Given the description of an element on the screen output the (x, y) to click on. 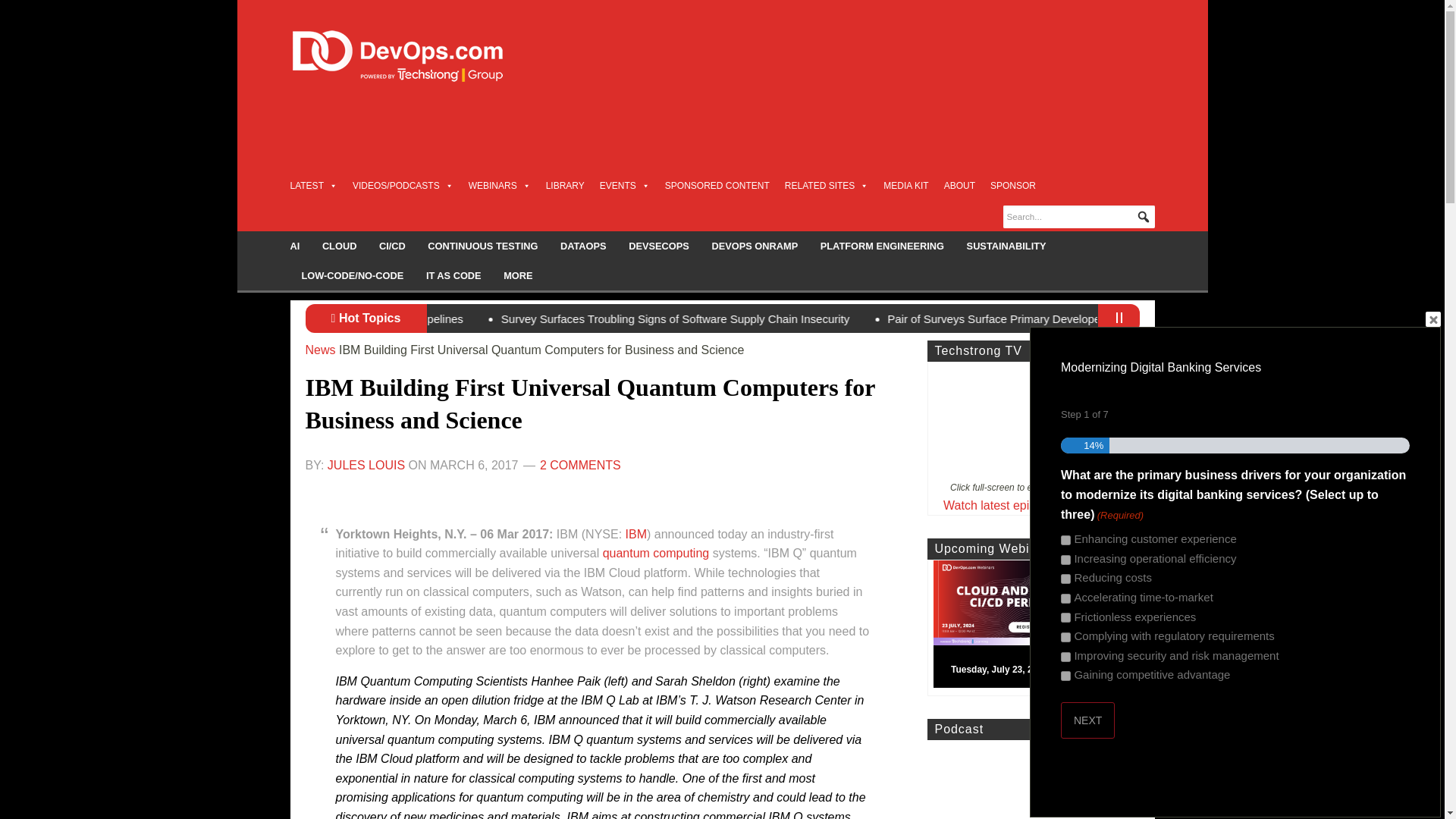
DEVOPS.COM (414, 56)
SPONSORED CONTENT (717, 185)
AI-Powered Solutions for Azure DevOps Pipelines (547, 318)
WEBINARS (499, 185)
Reducing costs (1065, 578)
Gaining competitive advantage (1065, 675)
Enhancing customer experience (1065, 540)
Tuesday, July 23, 2024 - 11:00 am EDT (1038, 627)
RELATED SITES (825, 185)
3rd party ad content (878, 136)
Next (1088, 719)
Frictionless experiences (1065, 617)
EVENTS (624, 185)
Accelerating time-to-market (1065, 598)
